Given the description of an element on the screen output the (x, y) to click on. 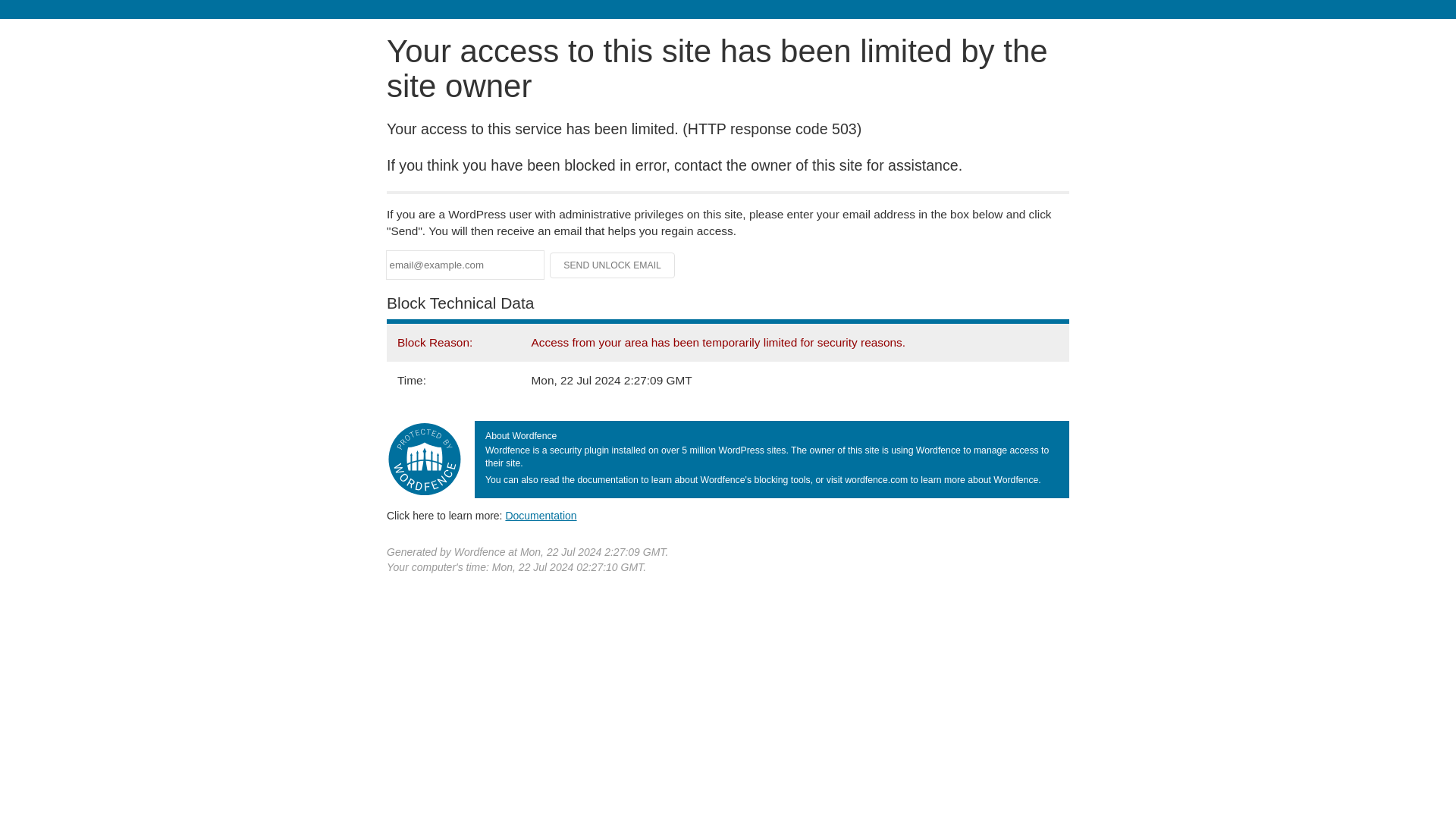
Send Unlock Email (612, 265)
Documentation (540, 515)
Send Unlock Email (612, 265)
